Given the description of an element on the screen output the (x, y) to click on. 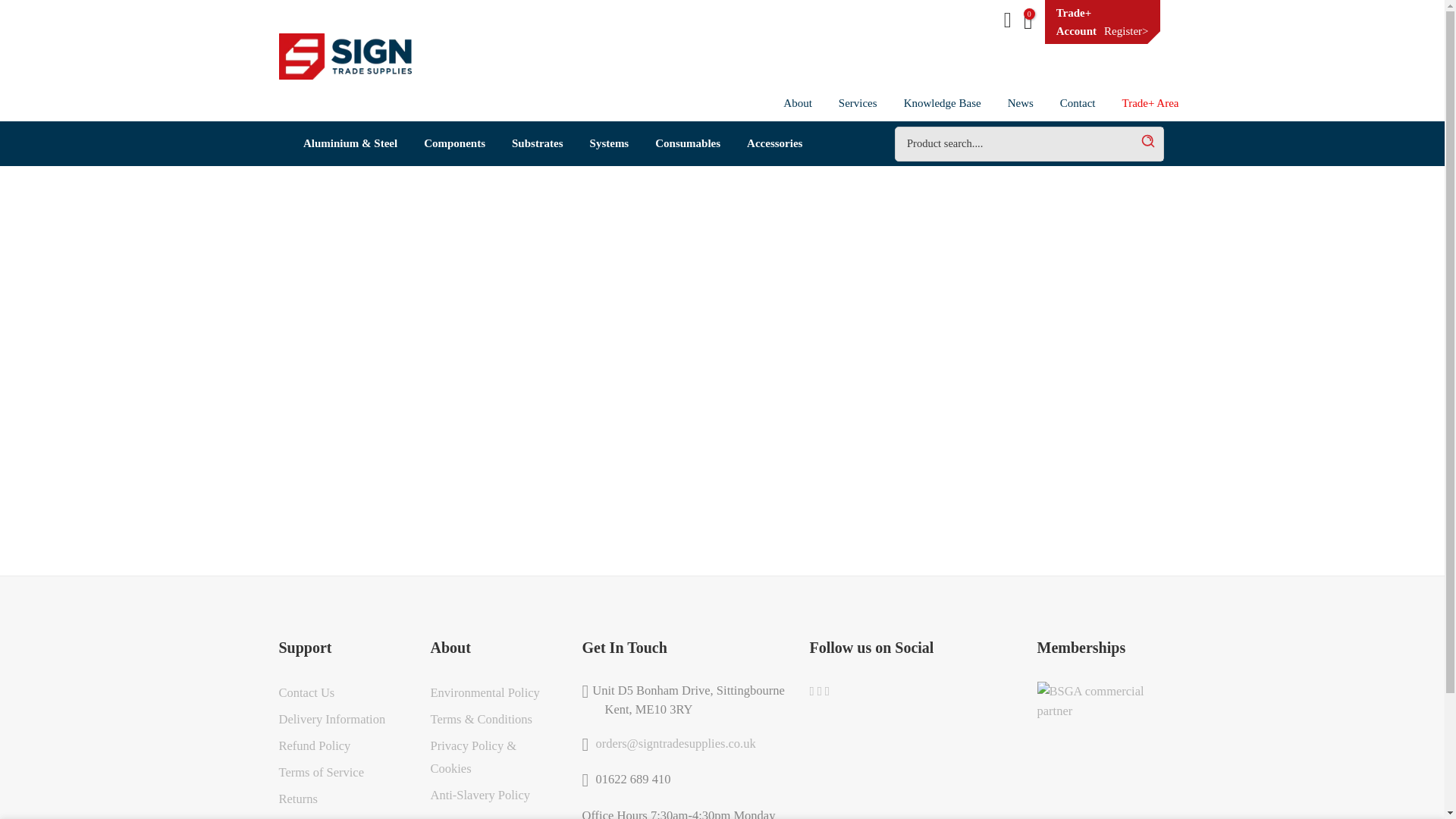
Knowledge Base (941, 103)
Components (454, 143)
News (1020, 103)
Services (857, 103)
About (797, 103)
Contact (1077, 103)
